Given the description of an element on the screen output the (x, y) to click on. 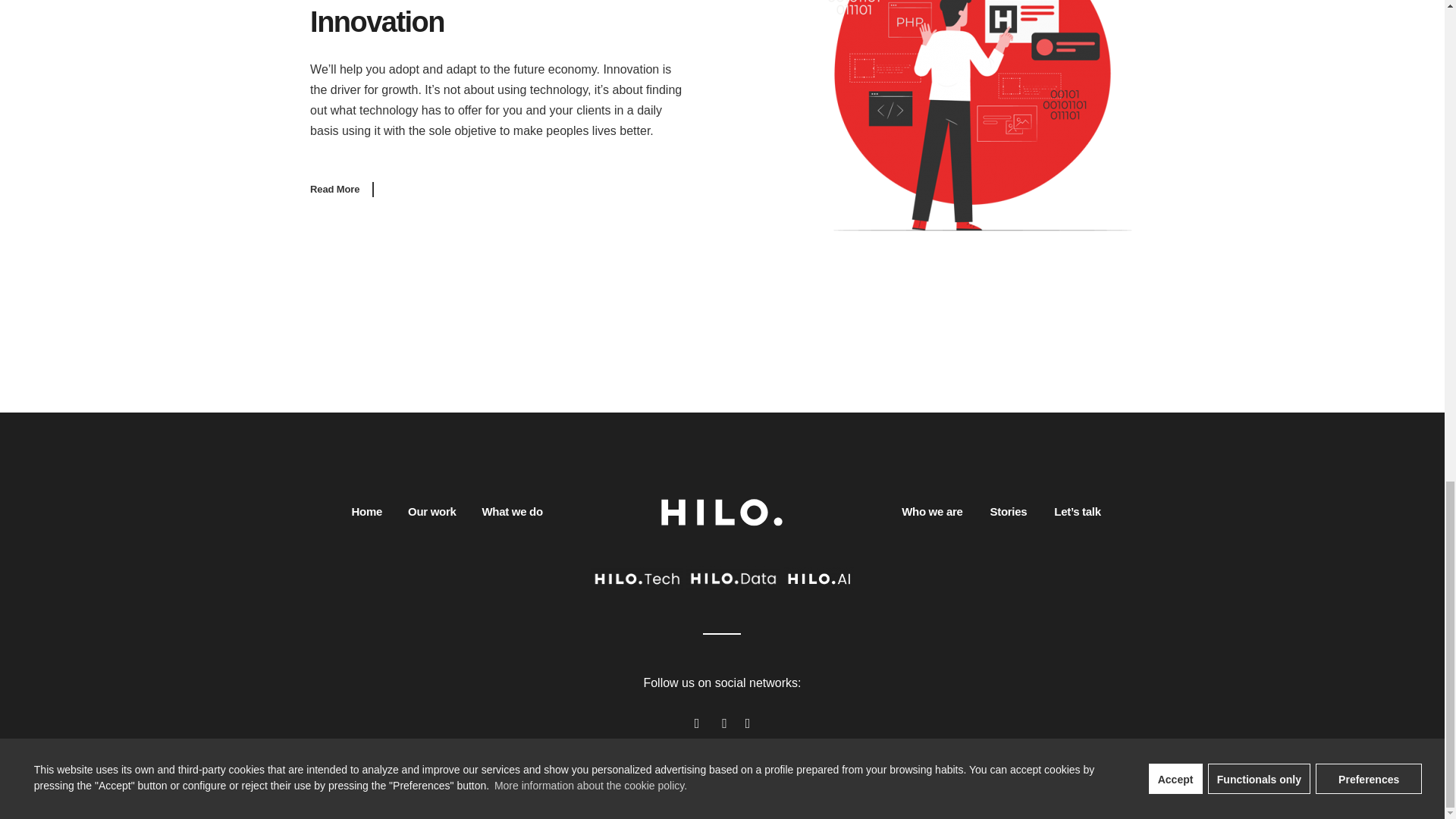
Our work (431, 511)
Who we are (931, 511)
tech-and-innovation (968, 115)
Read More (342, 189)
Aviso Legal (571, 785)
Stories (1008, 511)
Home (366, 511)
What we do (512, 511)
